Given the description of an element on the screen output the (x, y) to click on. 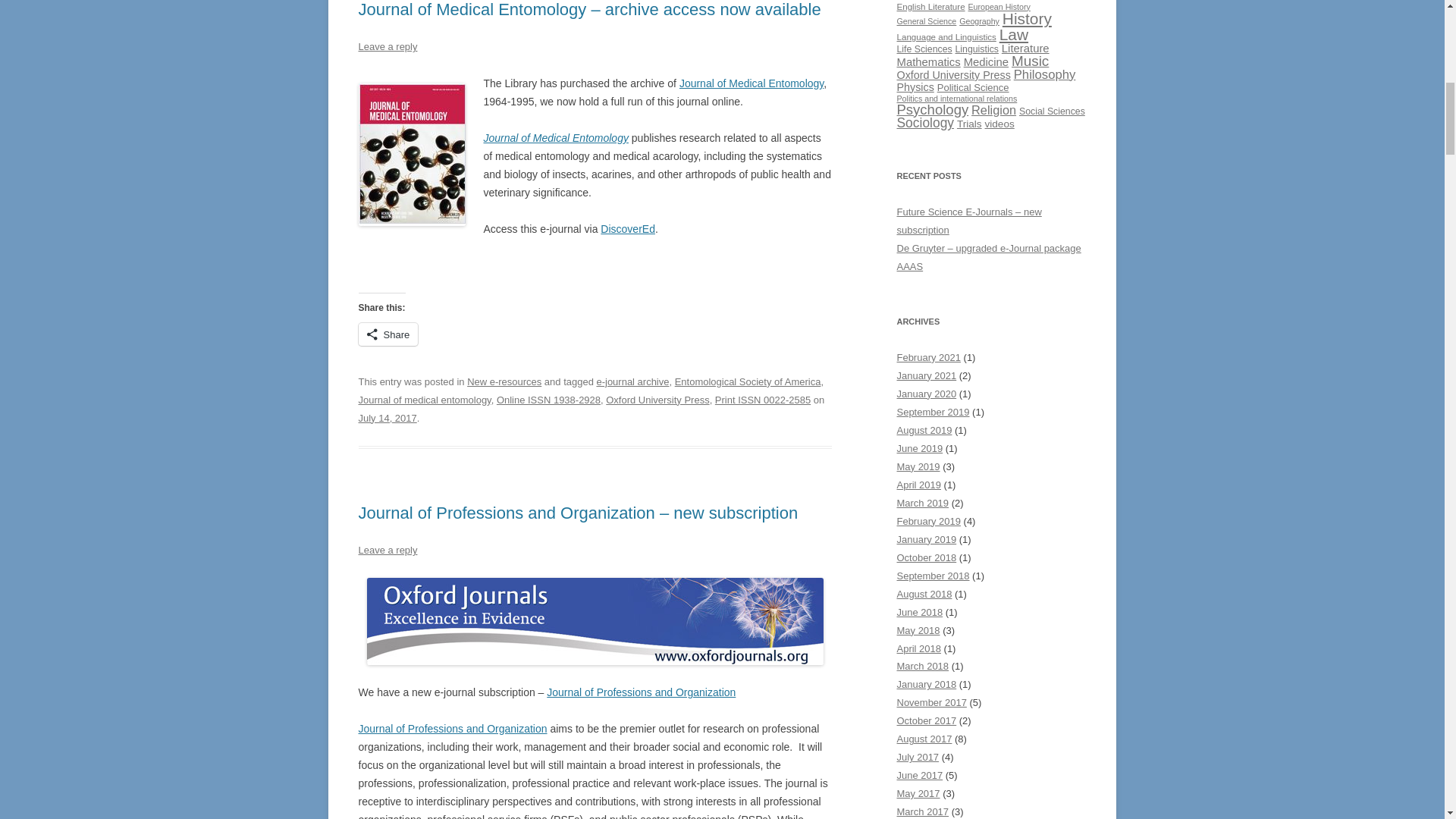
11:53 am (387, 418)
